Given the description of an element on the screen output the (x, y) to click on. 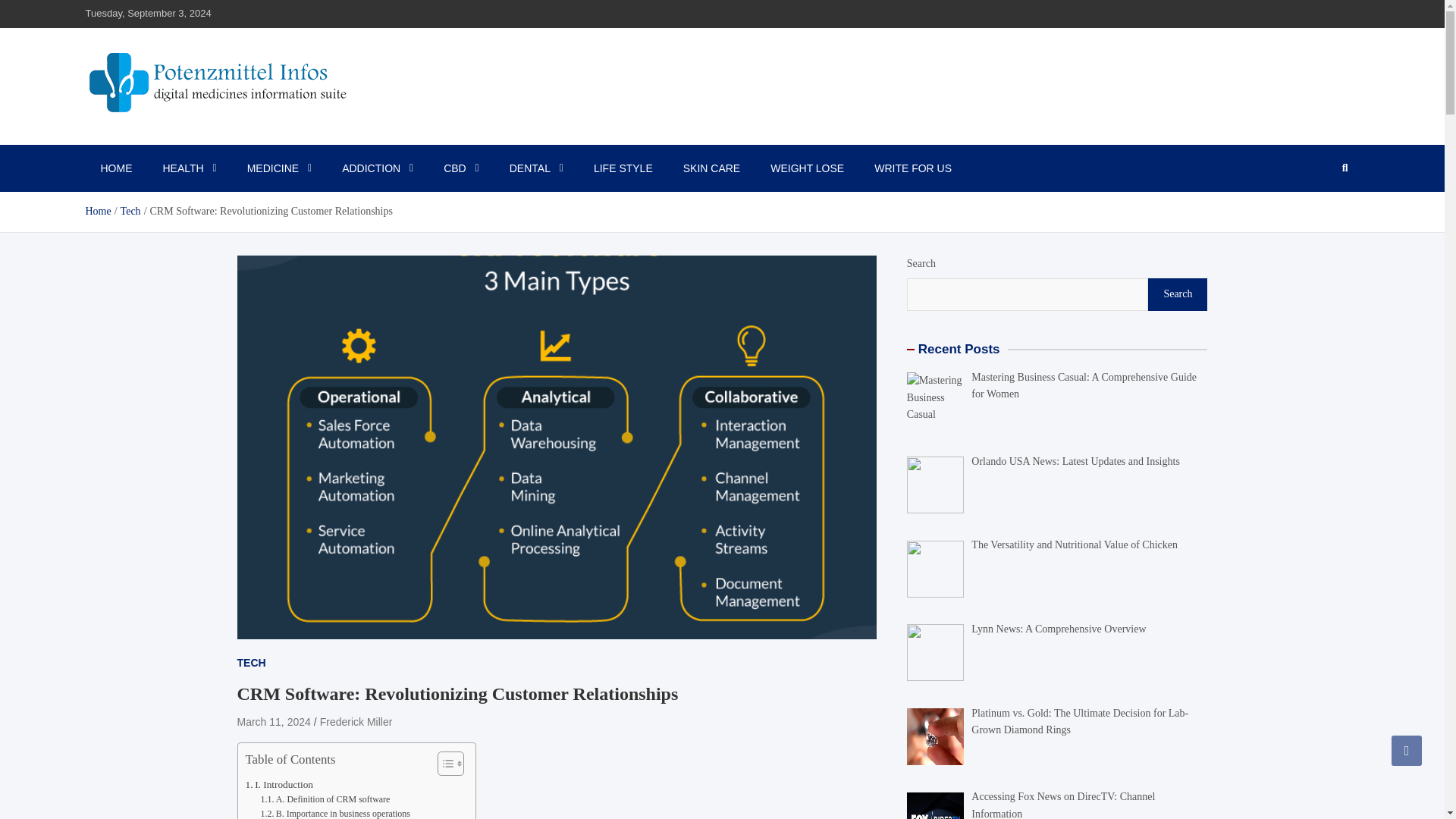
MEDICINE (278, 167)
WEIGHT LOSE (807, 167)
LIFE STYLE (623, 167)
WRITE FOR US (912, 167)
Tech (130, 211)
TECH (249, 662)
SKIN CARE (711, 167)
I. Introduction (279, 784)
March 11, 2024 (272, 721)
DENTAL (536, 167)
